Given the description of an element on the screen output the (x, y) to click on. 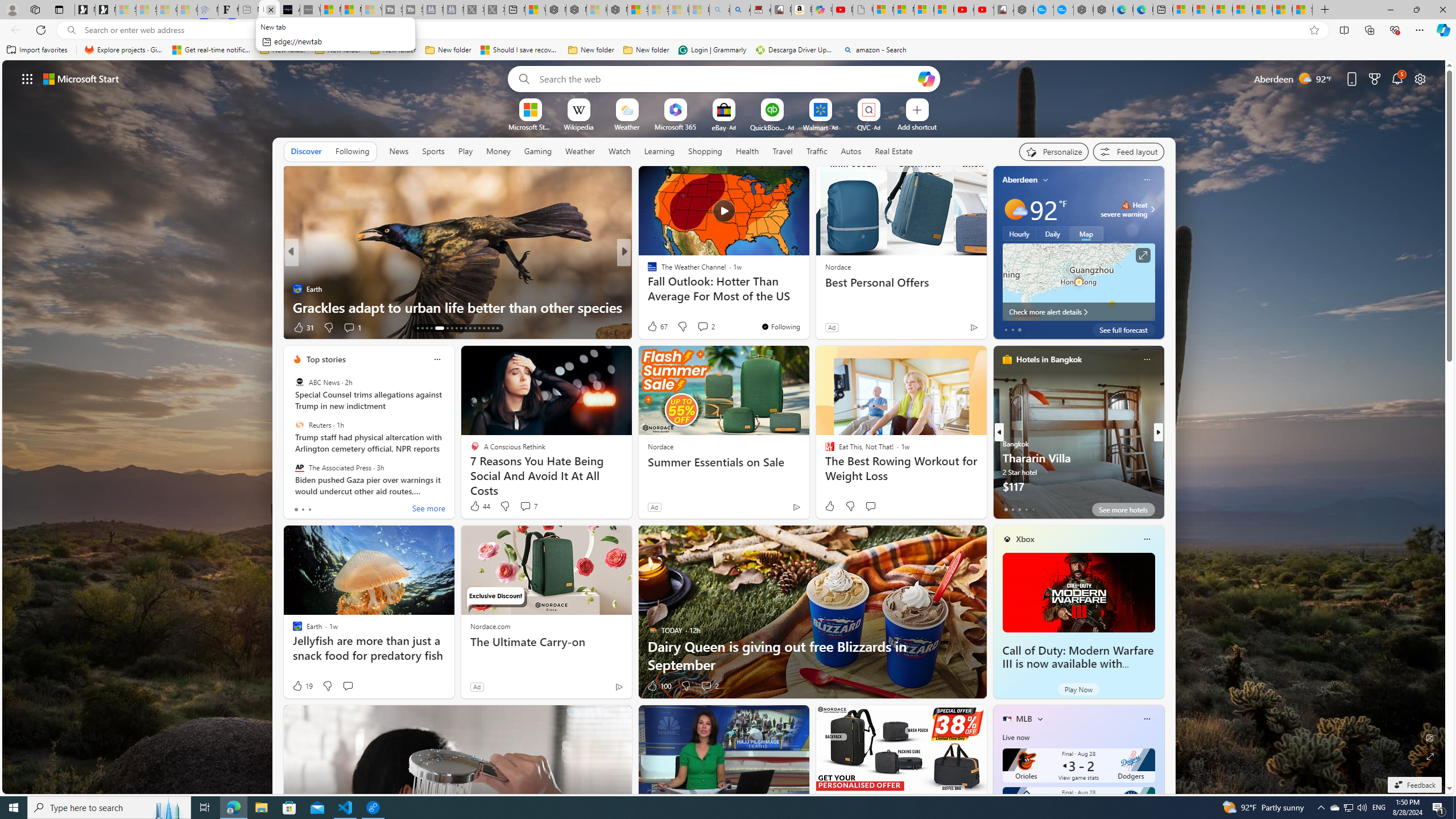
92 Like (652, 327)
amazon - Search (875, 49)
Nordace - Nordace has arrived Hong Kong (1103, 9)
Heat - Severe Heat severe warning (1123, 208)
Close (1442, 9)
tab-1 (1012, 509)
Discover (306, 151)
AutomationID: tab-25 (460, 328)
Microsoft Start (1261, 9)
Nordace (659, 446)
New Tab (1325, 9)
ABC News (299, 382)
More interests (1039, 718)
